Given the description of an element on the screen output the (x, y) to click on. 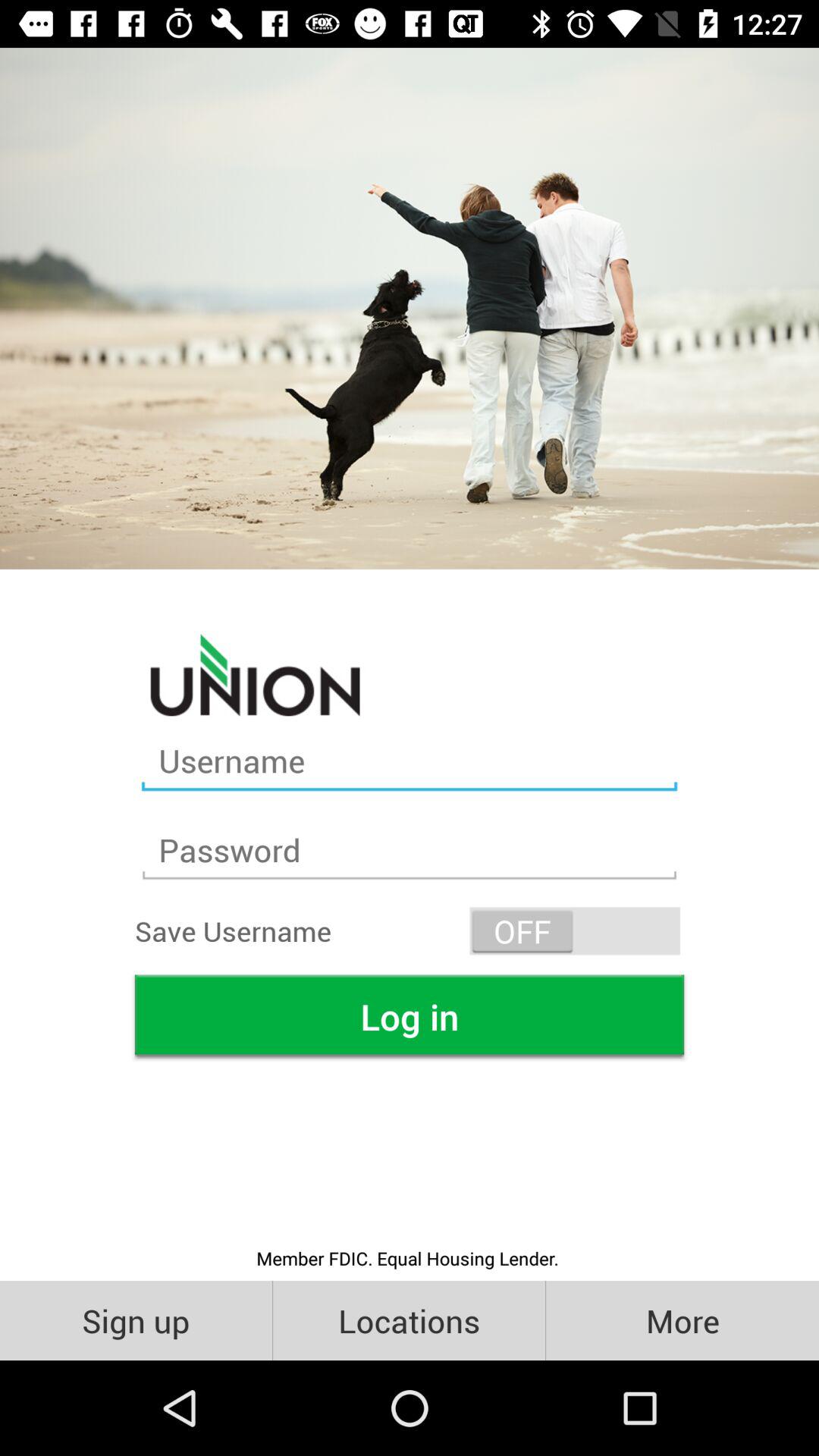
turn on log in item (409, 1016)
